Given the description of an element on the screen output the (x, y) to click on. 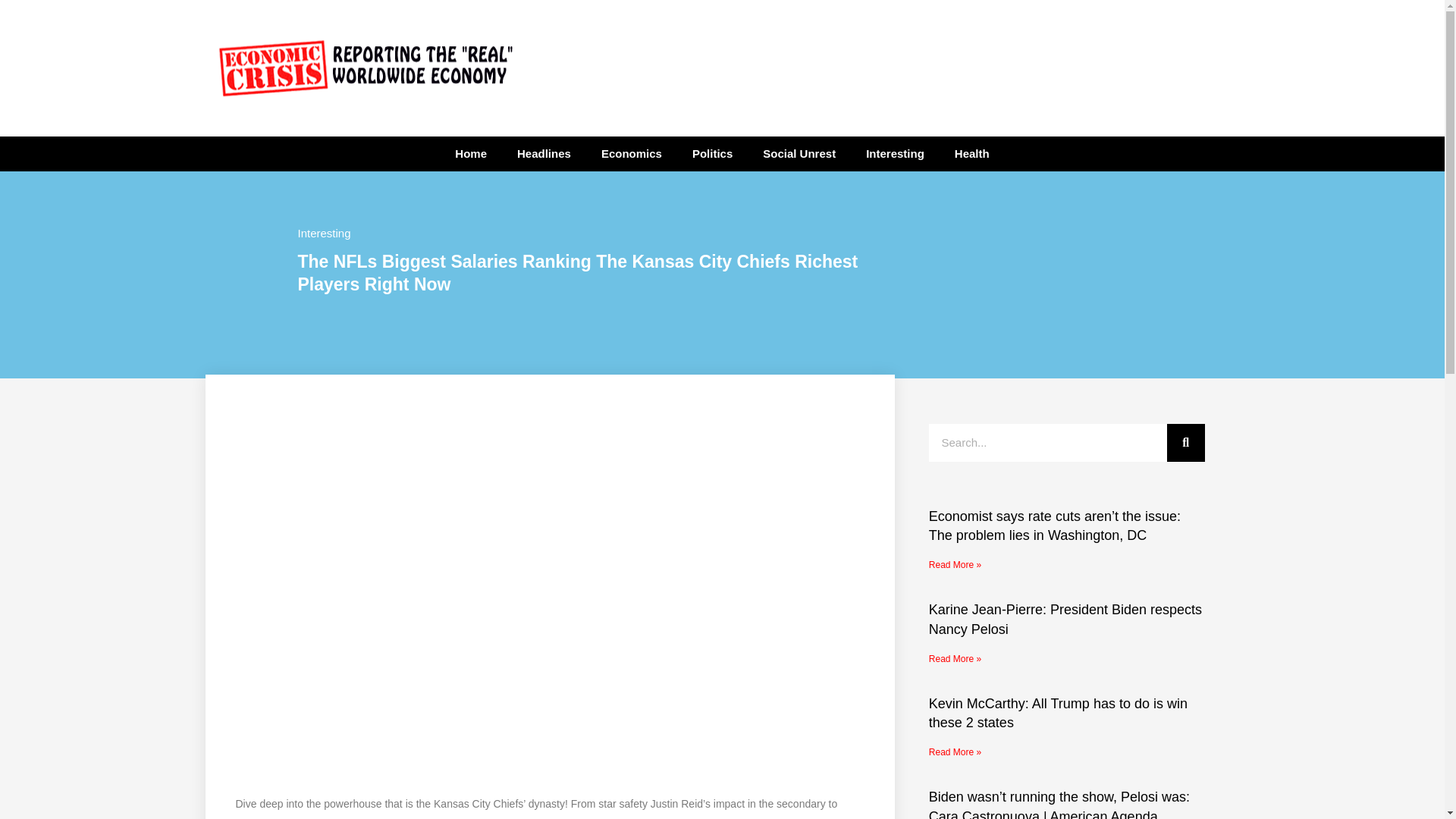
Social Unrest (799, 153)
Headlines (544, 153)
Economics (631, 153)
Kevin McCarthy: All Trump has to do is win these 2 states (1058, 713)
Interesting (323, 232)
Home (470, 153)
Interesting (894, 153)
Karine Jean-Pierre: President Biden respects Nancy Pelosi (1065, 618)
Politics (712, 153)
Health (971, 153)
